Given the description of an element on the screen output the (x, y) to click on. 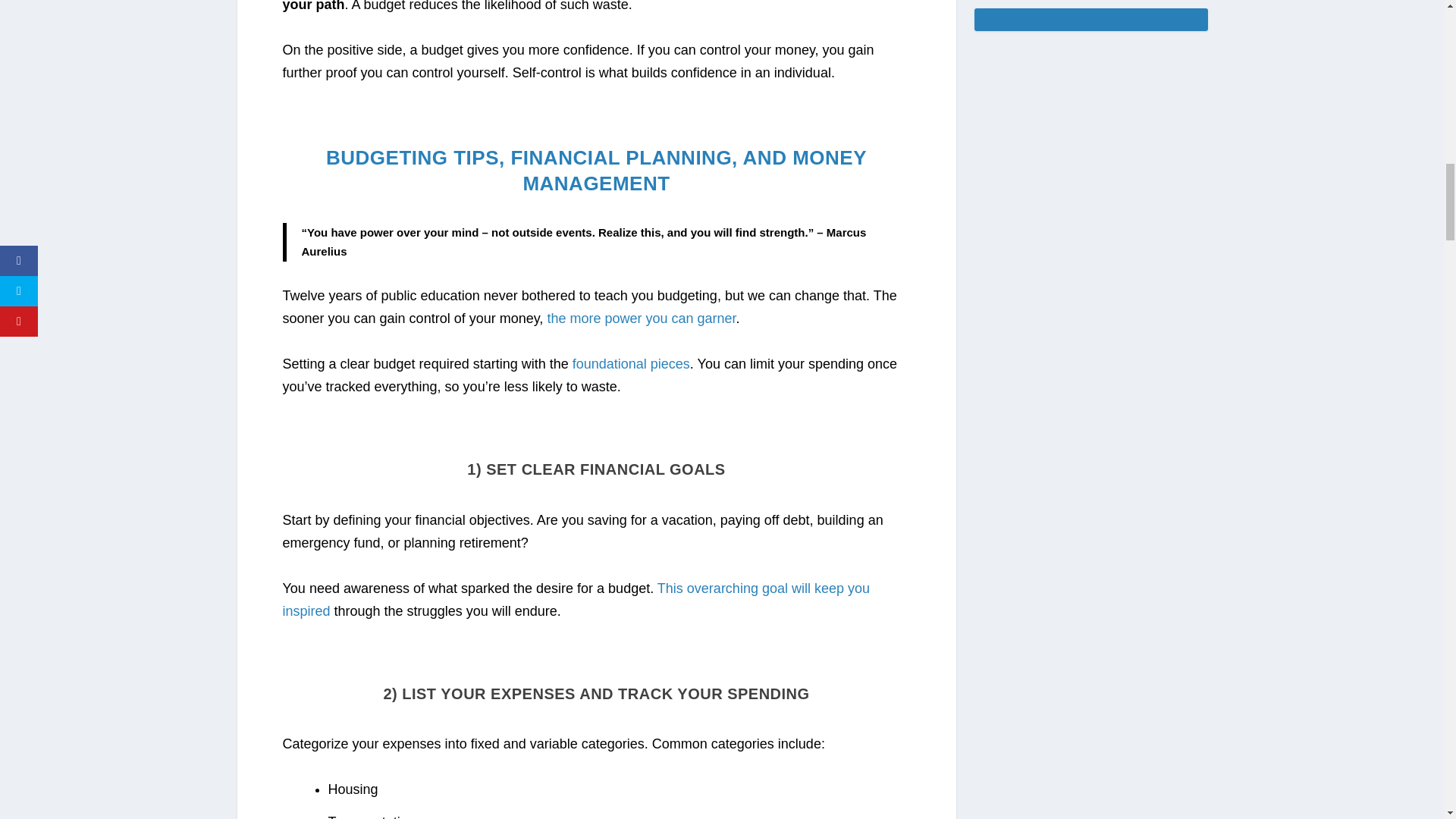
This overarching goal (722, 588)
the more power you can garner (641, 318)
will keep you inspired (575, 599)
foundational pieces (631, 363)
